Given the description of an element on the screen output the (x, y) to click on. 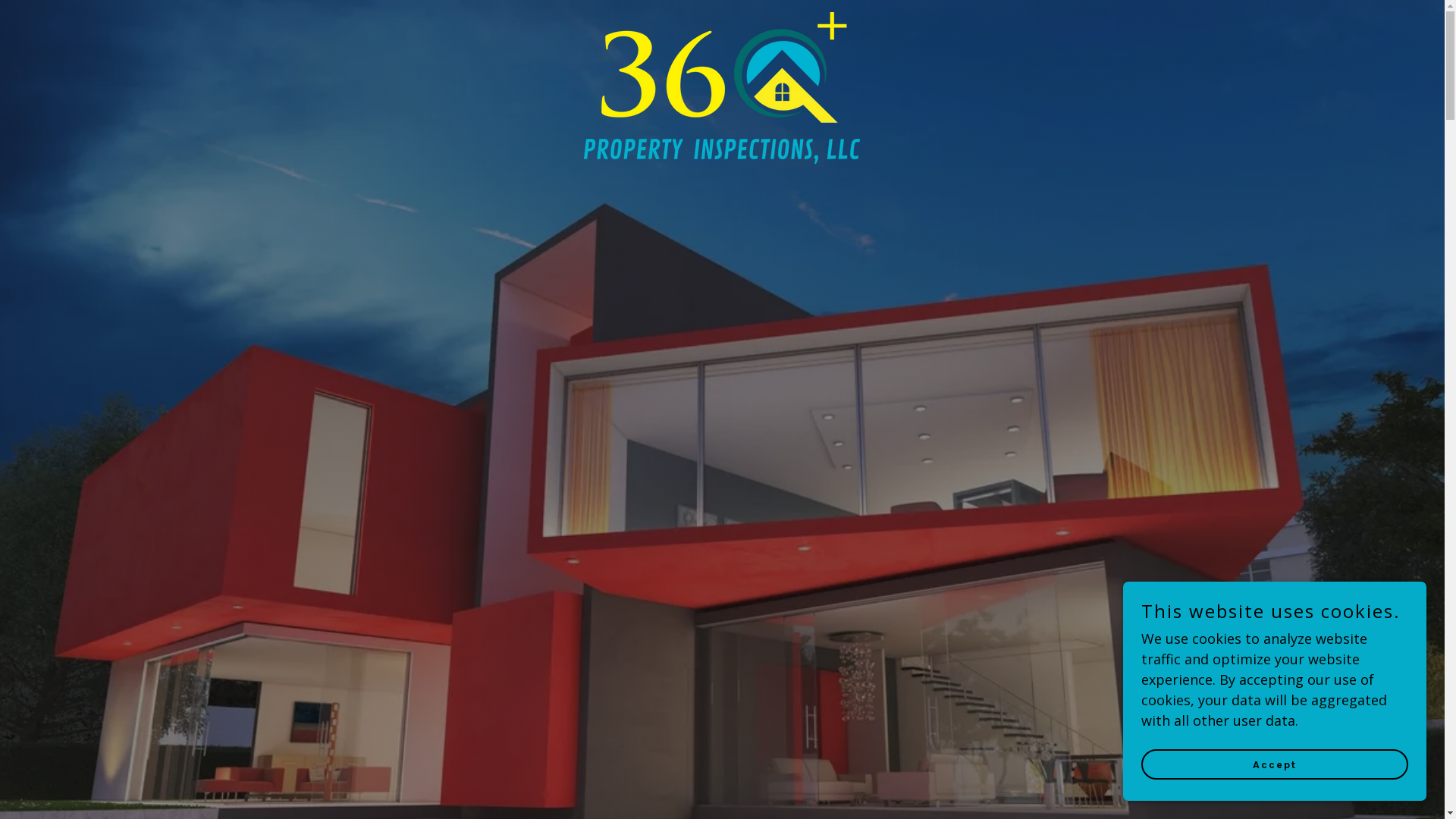
360+ Property Inspections Element type: hover (721, 18)
Accept Element type: text (1274, 764)
